Given the description of an element on the screen output the (x, y) to click on. 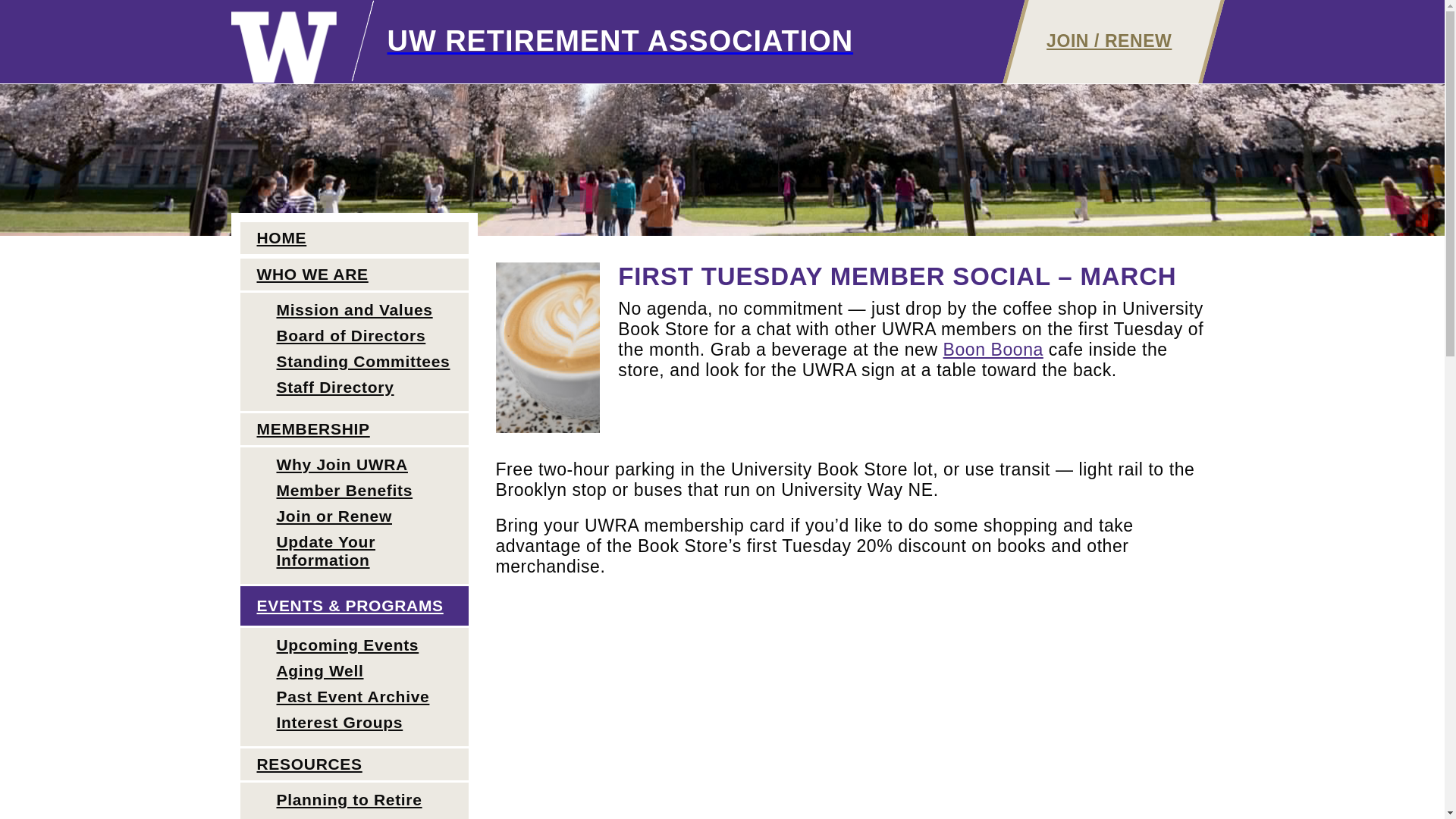
UW RETIREMENT ASSOCIATION (541, 41)
MEMBERSHIP (353, 430)
WHO WE ARE (353, 275)
Board of Directors (353, 335)
Staff Directory (353, 387)
Standing Committees (353, 361)
Member Benefits (353, 490)
Mission and Values (353, 309)
Why Join UWRA (353, 464)
HOME (353, 238)
